Given the description of an element on the screen output the (x, y) to click on. 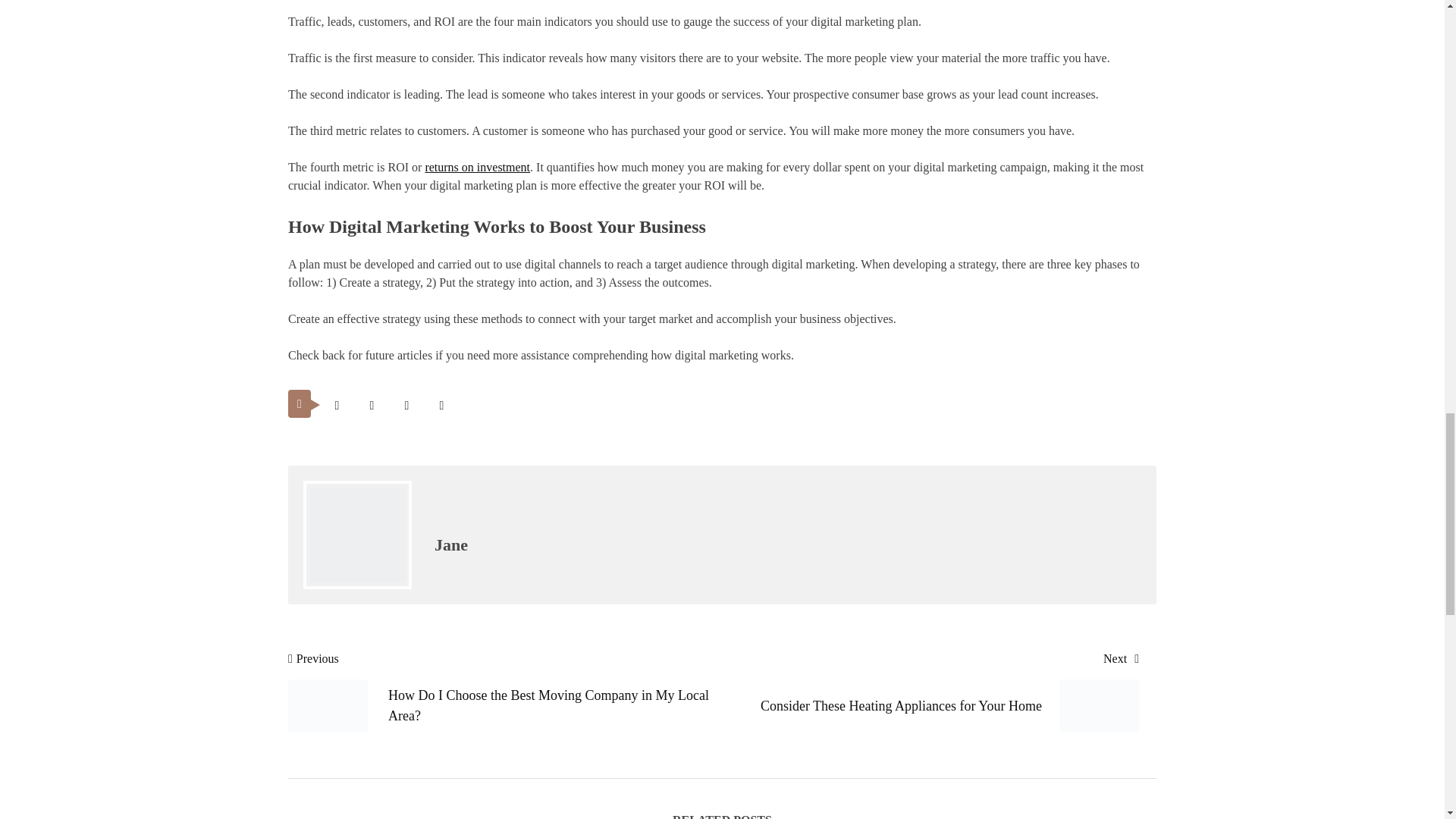
Share on Linkedin (441, 405)
Share on Pinterest (406, 405)
Tweet This! (336, 405)
Share on Facebook (371, 405)
